Given the description of an element on the screen output the (x, y) to click on. 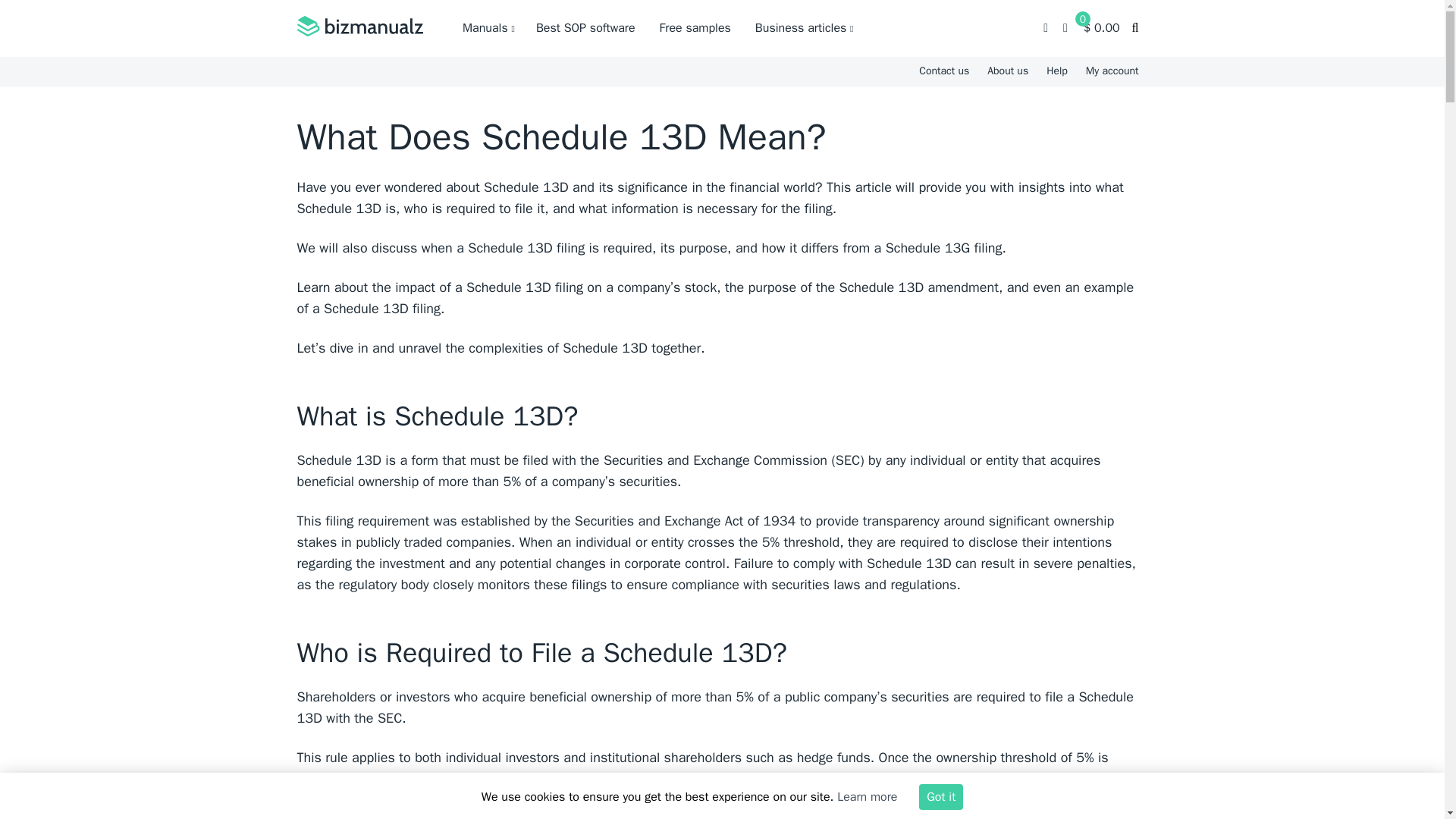
Free samples (694, 28)
Bizmanualz (360, 28)
Business articles (804, 28)
Manuals (489, 28)
Best SOP software (584, 28)
